Given the description of an element on the screen output the (x, y) to click on. 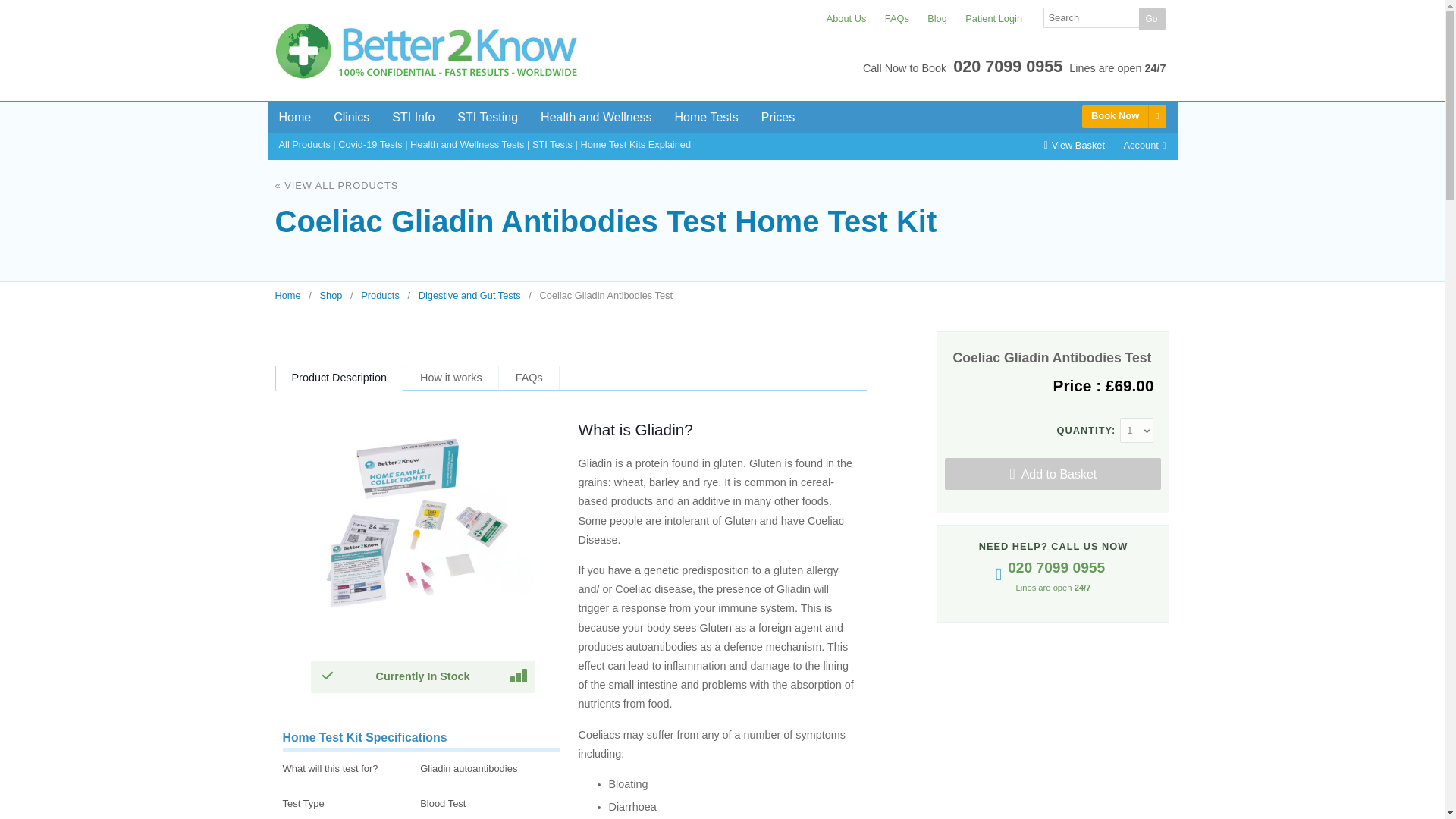
Go (1152, 18)
FAQs (888, 18)
Clinics (350, 117)
Blog (929, 18)
Clinics (350, 117)
Go (1152, 18)
STI Testing (487, 117)
STI Info (412, 117)
Home (293, 117)
Go (1152, 18)
